Given the description of an element on the screen output the (x, y) to click on. 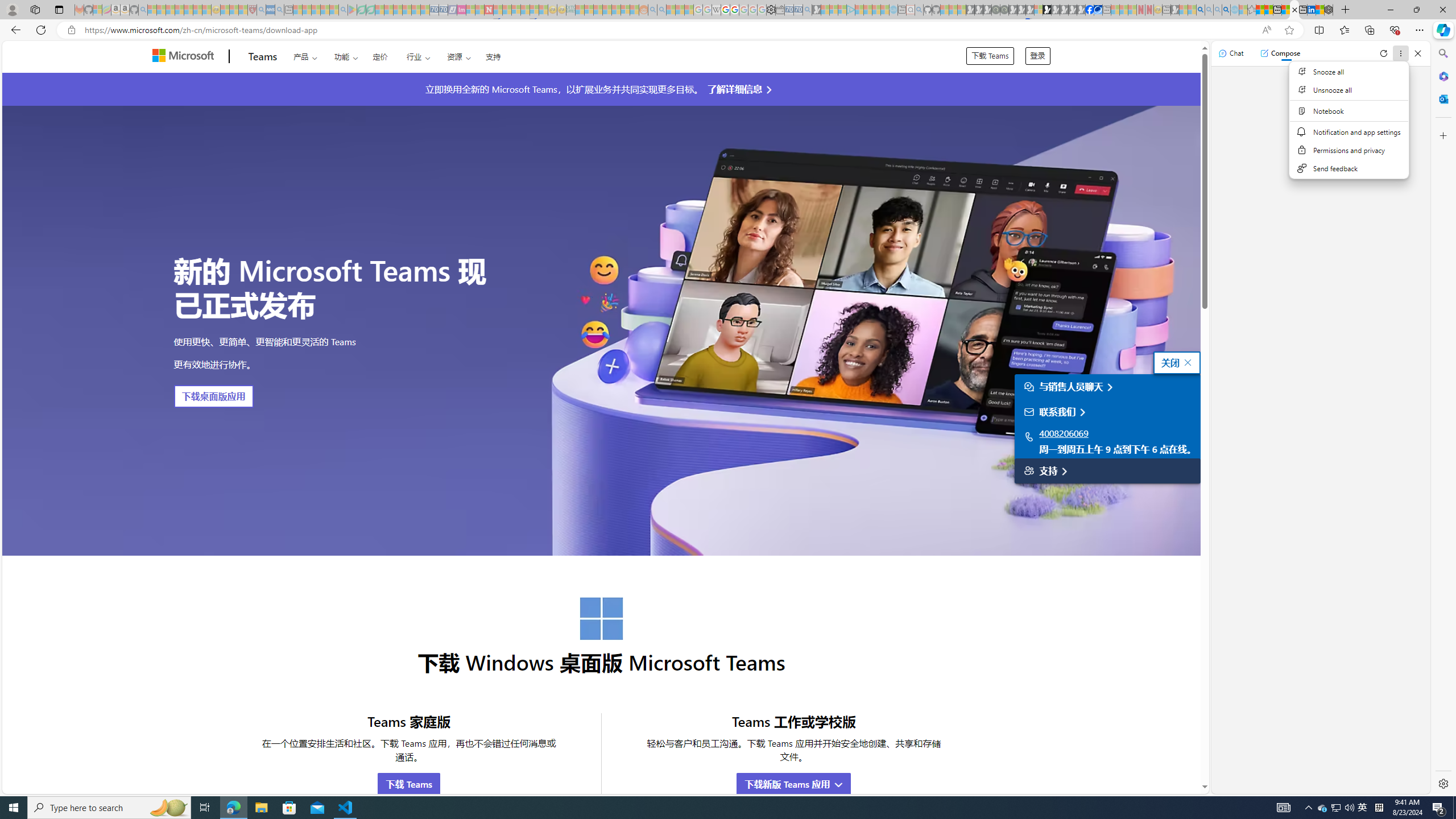
Context (1348, 126)
Bluey: Let's Play! - Apps on Google Play - Sleeping (352, 9)
Expert Portfolios - Sleeping (606, 9)
utah sues federal government - Search - Sleeping (279, 9)
Nordace - Summer Adventures 2024 (1328, 9)
Permissions and privacy (1349, 149)
The Weather Channel - MSN - Sleeping (170, 9)
